Given the description of an element on the screen output the (x, y) to click on. 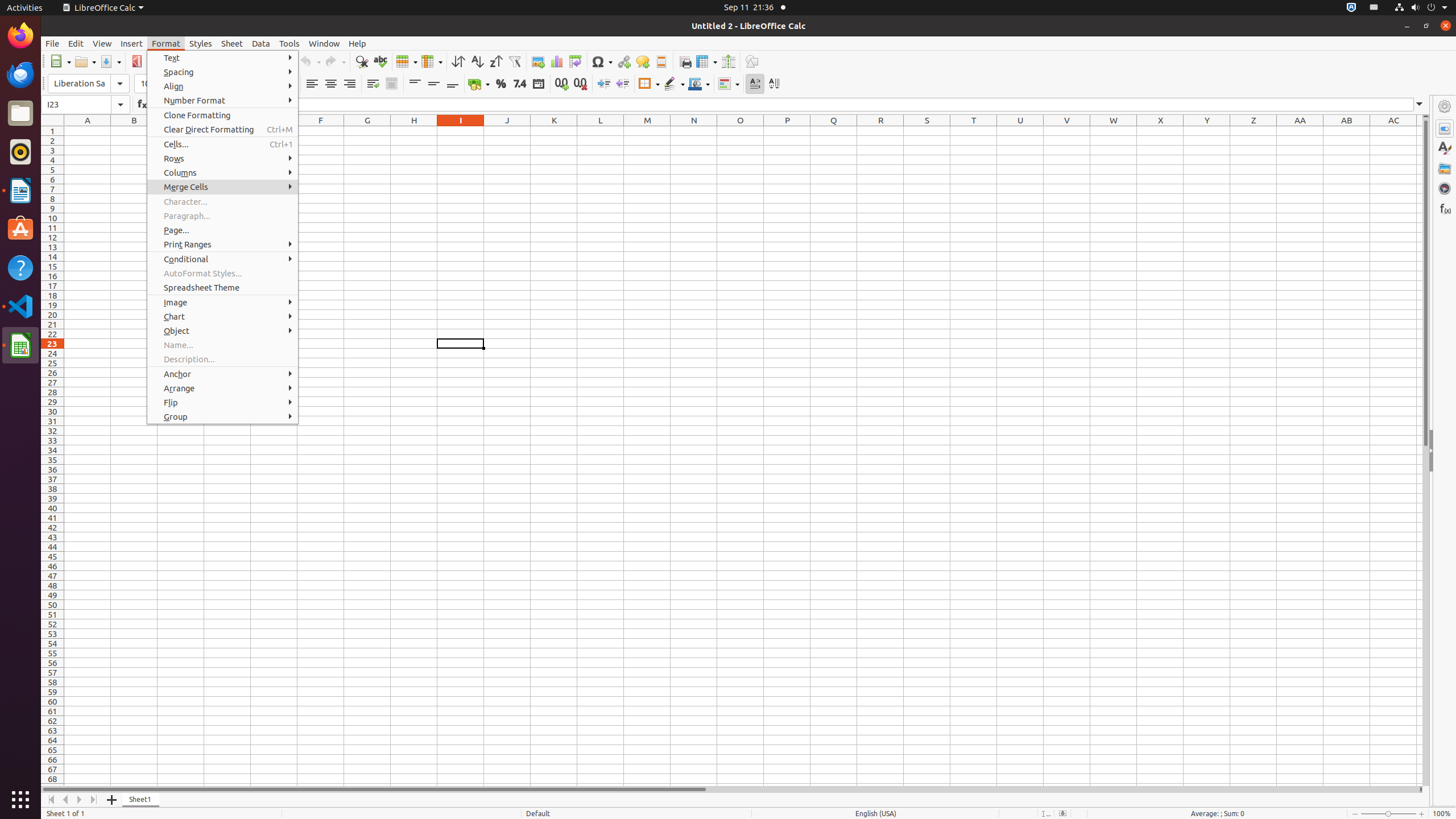
Q1 Element type: table-cell (833, 130)
Sort Ascending Element type: push-button (476, 61)
Character... Element type: menu-item (222, 201)
U1 Element type: table-cell (1020, 130)
